Given the description of an element on the screen output the (x, y) to click on. 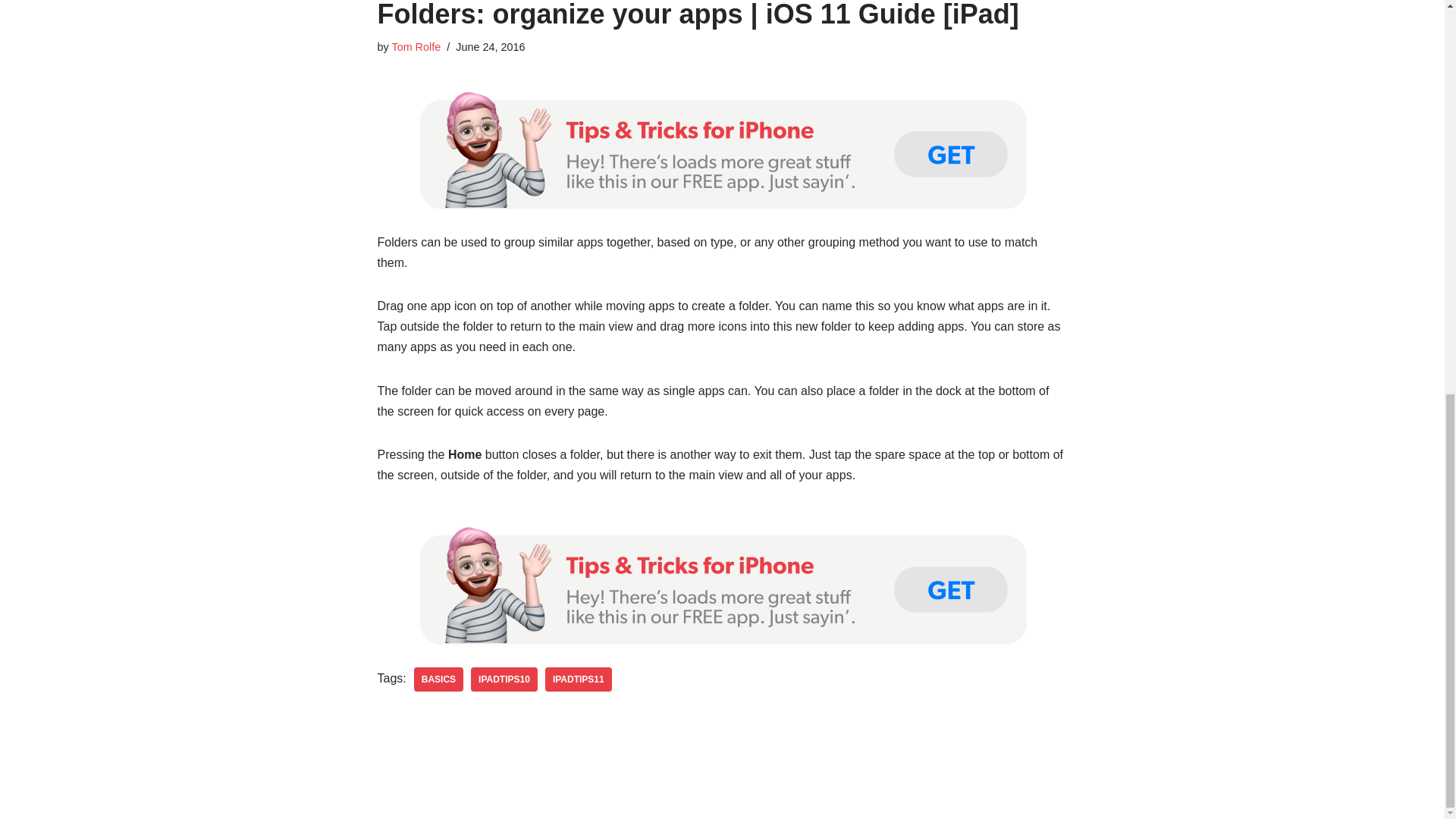
Tom Rolfe (416, 46)
iPadTips11 (577, 679)
Posts by Tom Rolfe (416, 46)
BASICS (438, 679)
Basics (438, 679)
iPadTips10 (503, 679)
IPADTIPS11 (577, 679)
IPADTIPS10 (503, 679)
